Given the description of an element on the screen output the (x, y) to click on. 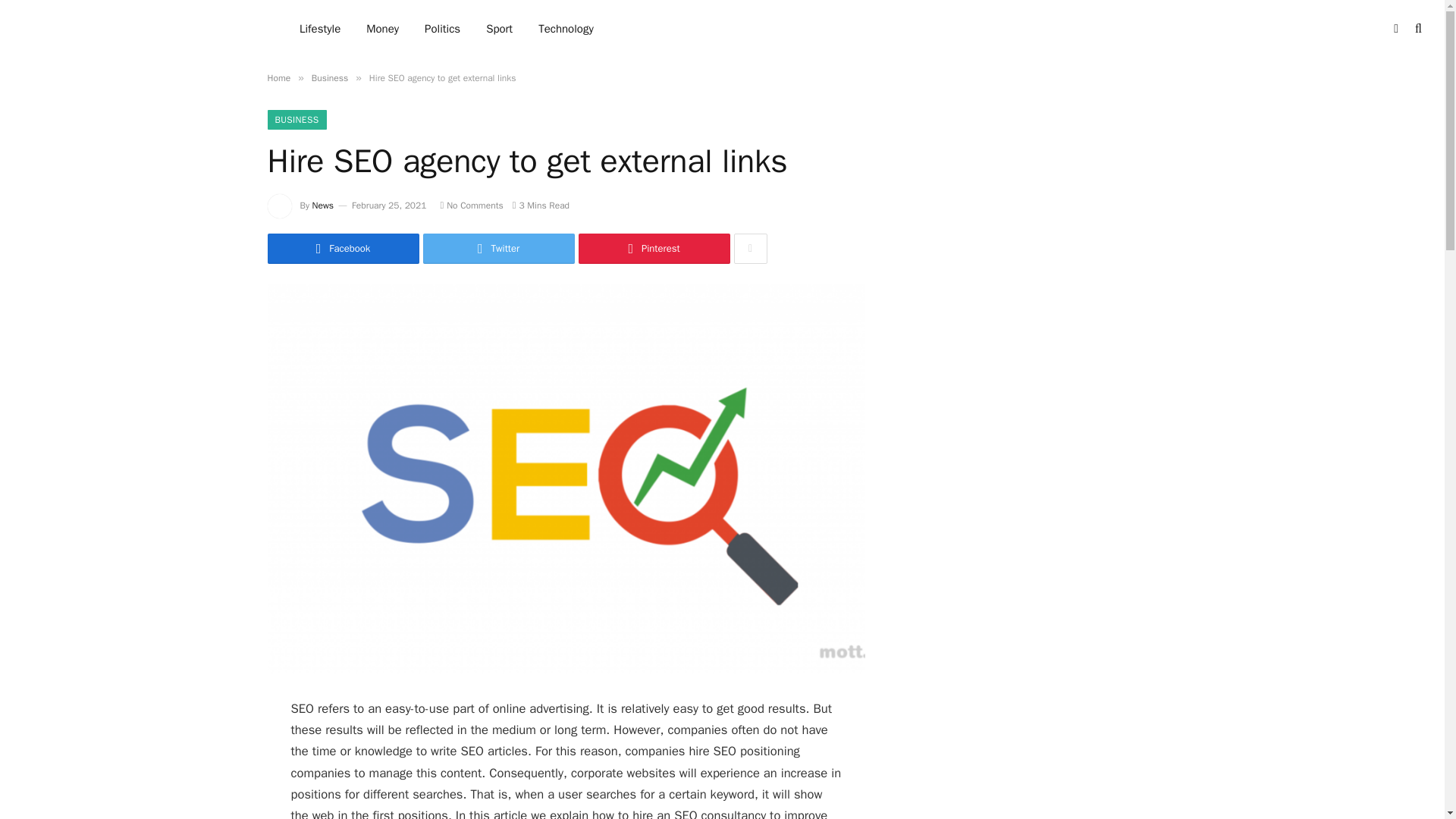
Pinterest (653, 248)
Twitter (499, 248)
Sport (499, 28)
Switch to Dark Design - easier on eyes. (1396, 28)
No Comments (470, 205)
Money (382, 28)
Share on Twitter (499, 248)
Share on Facebook (342, 248)
Share on Pinterest (653, 248)
News (323, 205)
